Given the description of an element on the screen output the (x, y) to click on. 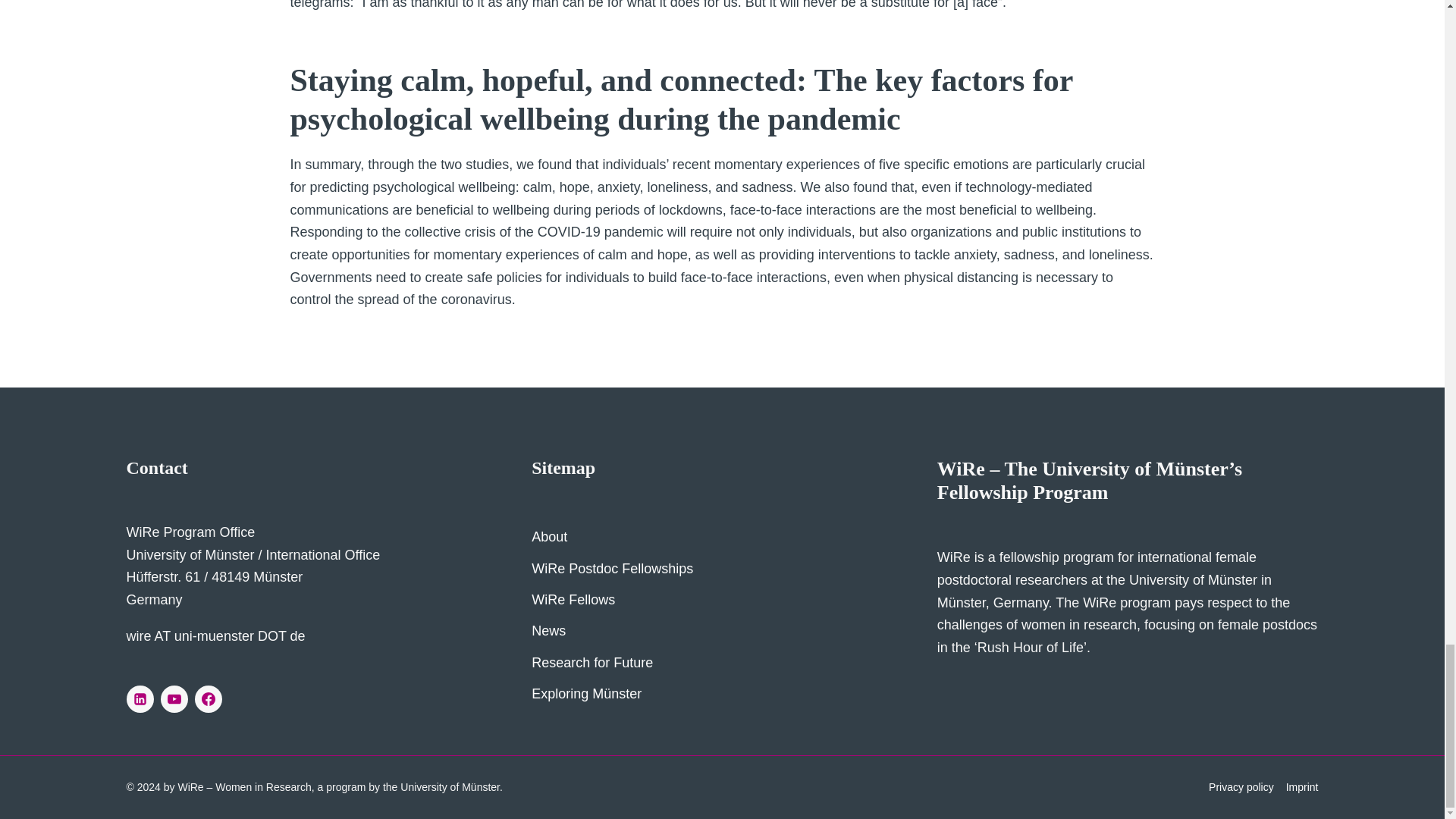
WiRe Postdoc Fellowships (721, 567)
About (721, 536)
Research for Future (721, 662)
Imprint (1302, 786)
WiRe Fellows (721, 599)
Privacy policy (1241, 786)
News (721, 631)
